Given the description of an element on the screen output the (x, y) to click on. 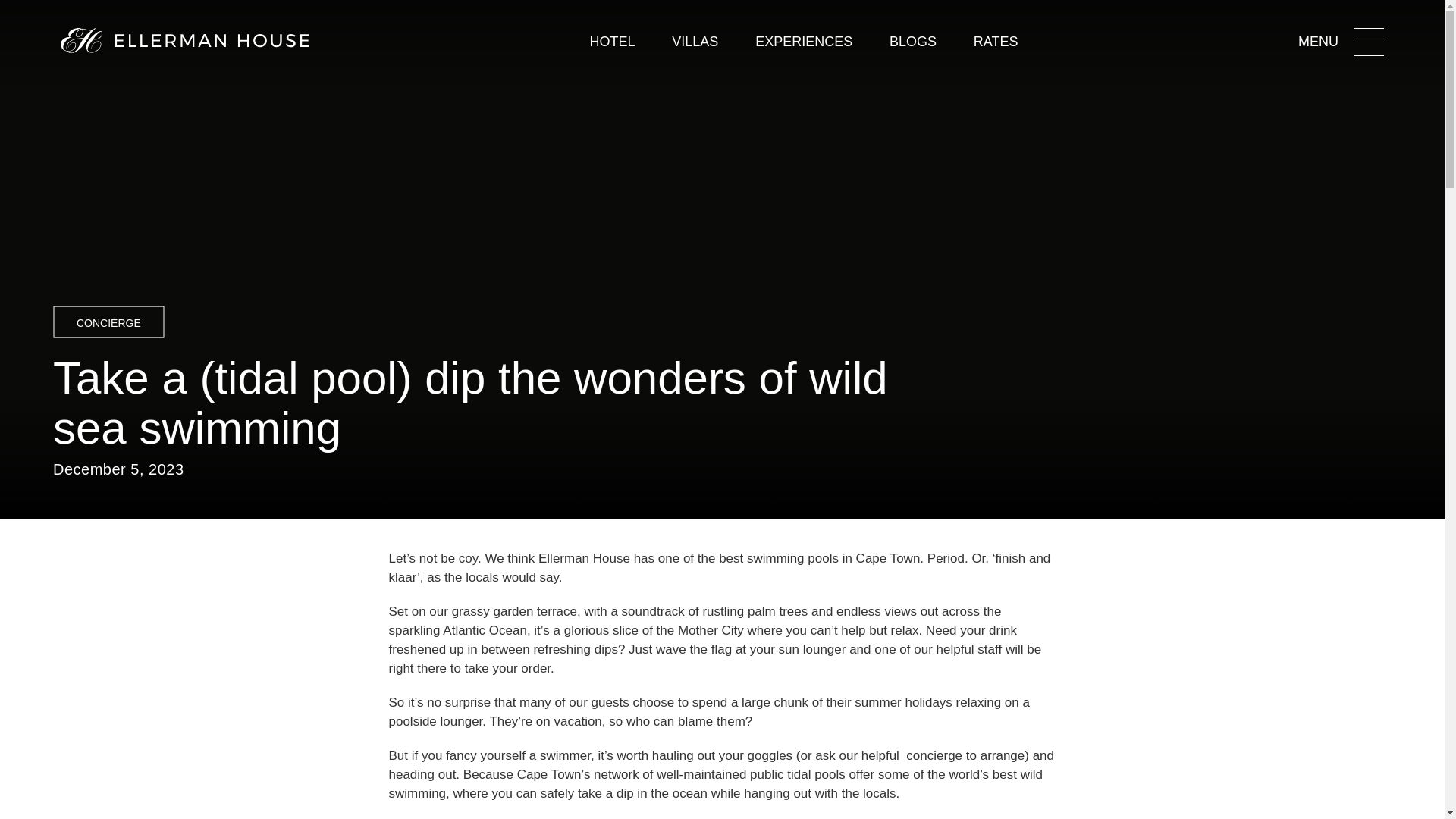
VILLAS (694, 42)
RATES (995, 42)
HOTEL (612, 42)
EXPERIENCES (803, 42)
BLOGS (912, 42)
